Given the description of an element on the screen output the (x, y) to click on. 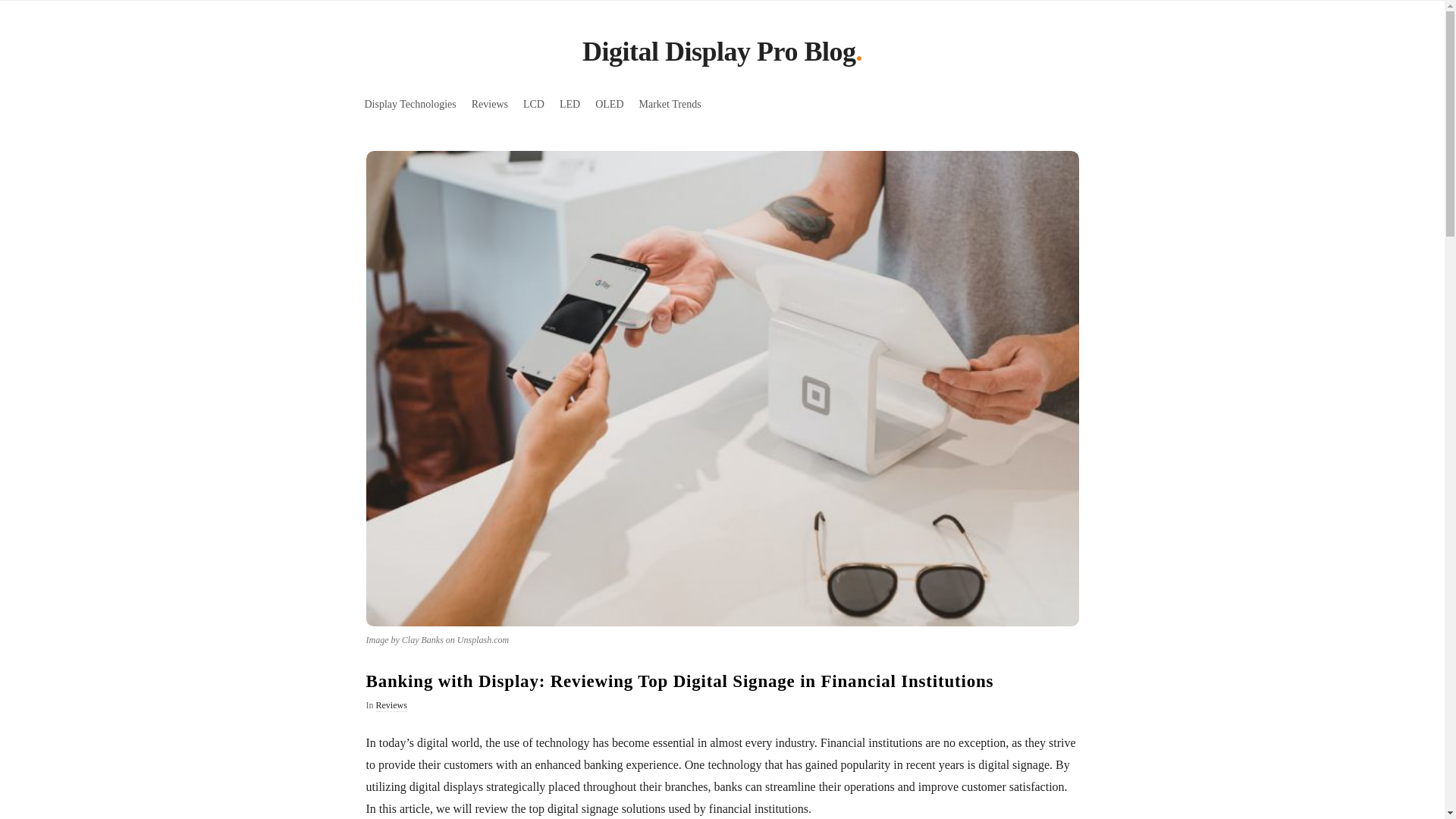
Digital Display Pro Blog (719, 55)
Display Technologies (409, 103)
Digital Display Pro Blog (719, 55)
LCD (533, 103)
Market Trends (670, 103)
Reviews (391, 705)
OLED (609, 103)
LED (569, 103)
Reviews (489, 103)
